Given the description of an element on the screen output the (x, y) to click on. 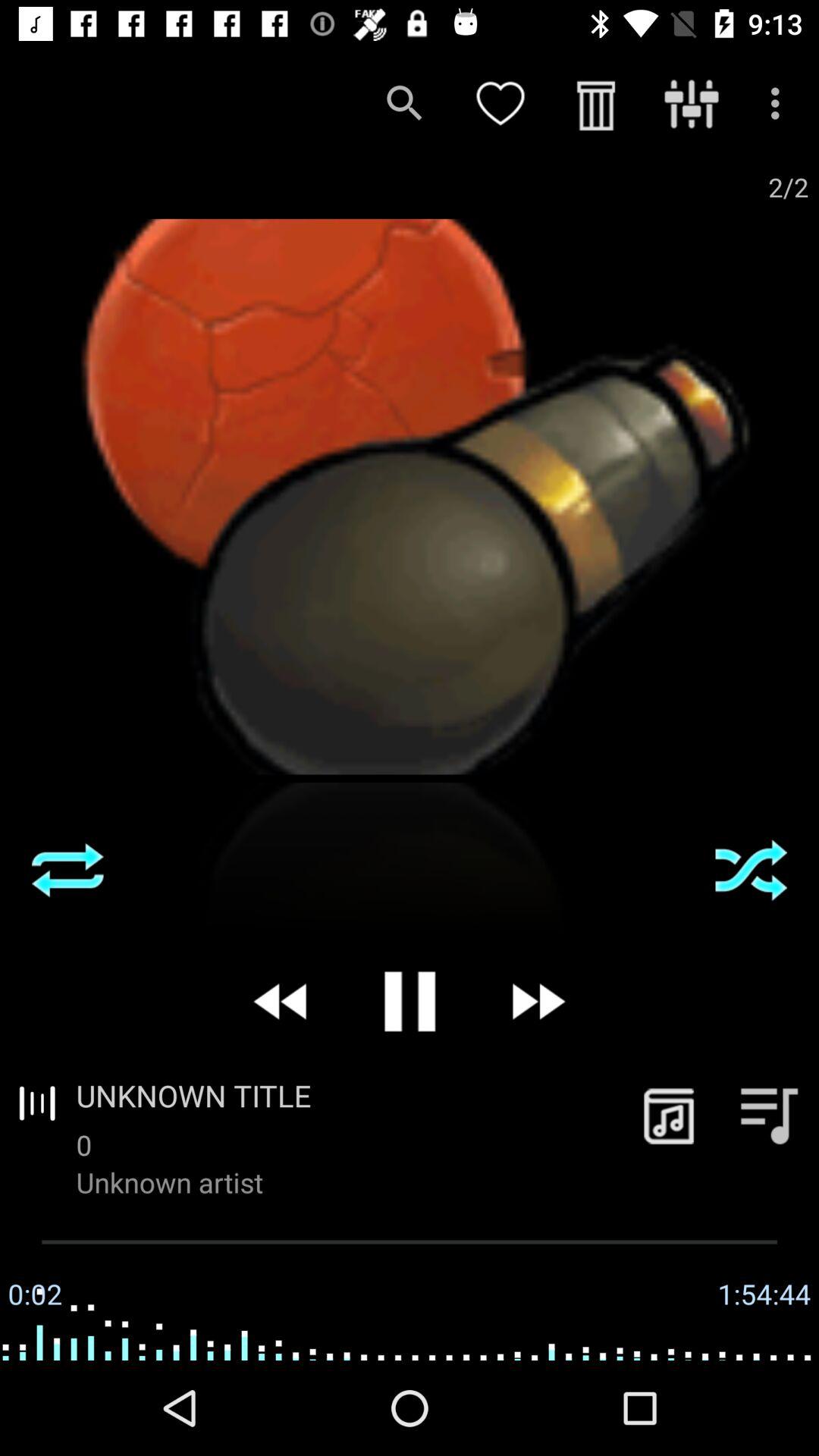
shuffle playlist (751, 869)
